Given the description of an element on the screen output the (x, y) to click on. 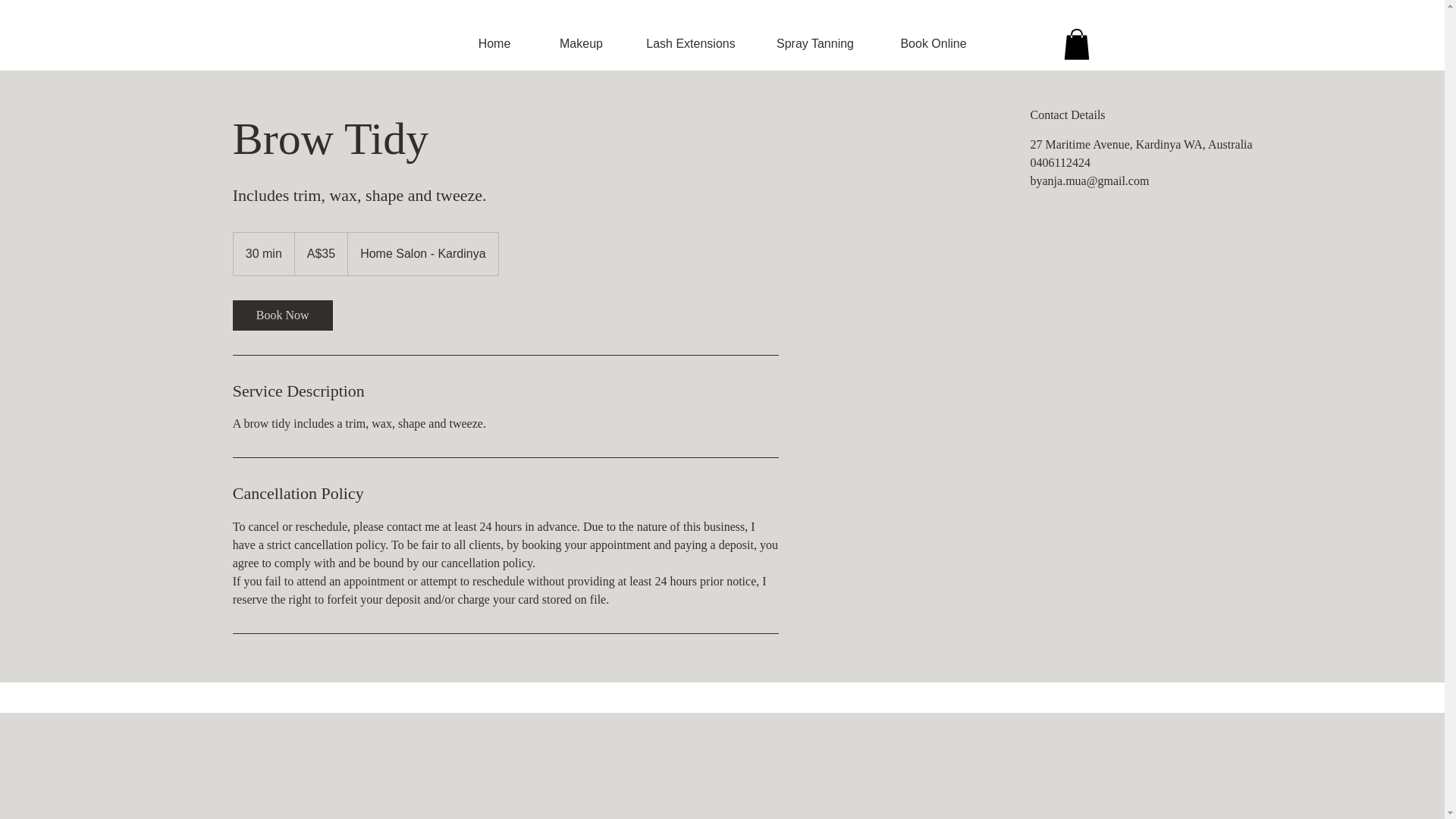
Spray Tanning (815, 44)
Lash Extensions (690, 44)
Book Now (282, 315)
Makeup (581, 44)
Book Online (933, 44)
Home (493, 44)
